Given the description of an element on the screen output the (x, y) to click on. 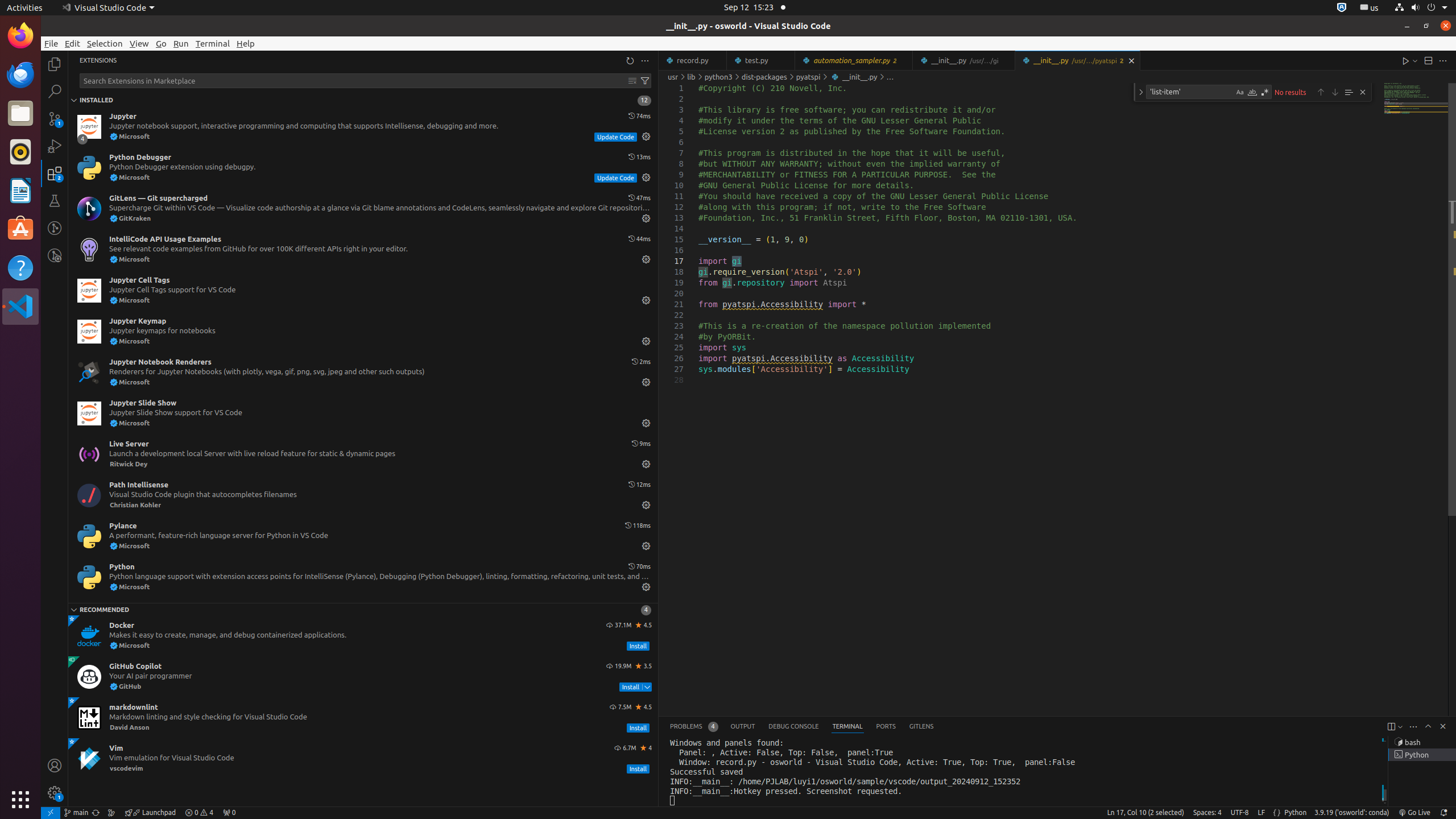
__init__.py Element type: page-tab (1077, 60)
IntelliCode API Usage Examples, 0.2.8, Verified Publisher Microsoft, See relevant code examples from GitHub for over 100K different APIs right in your editor. , Rated 3.90 out of 5 stars by 20 users Element type: list-item (363, 249)
Maximize Panel Size Element type: check-box (1427, 726)
Go Element type: push-button (161, 43)
